Given the description of an element on the screen output the (x, y) to click on. 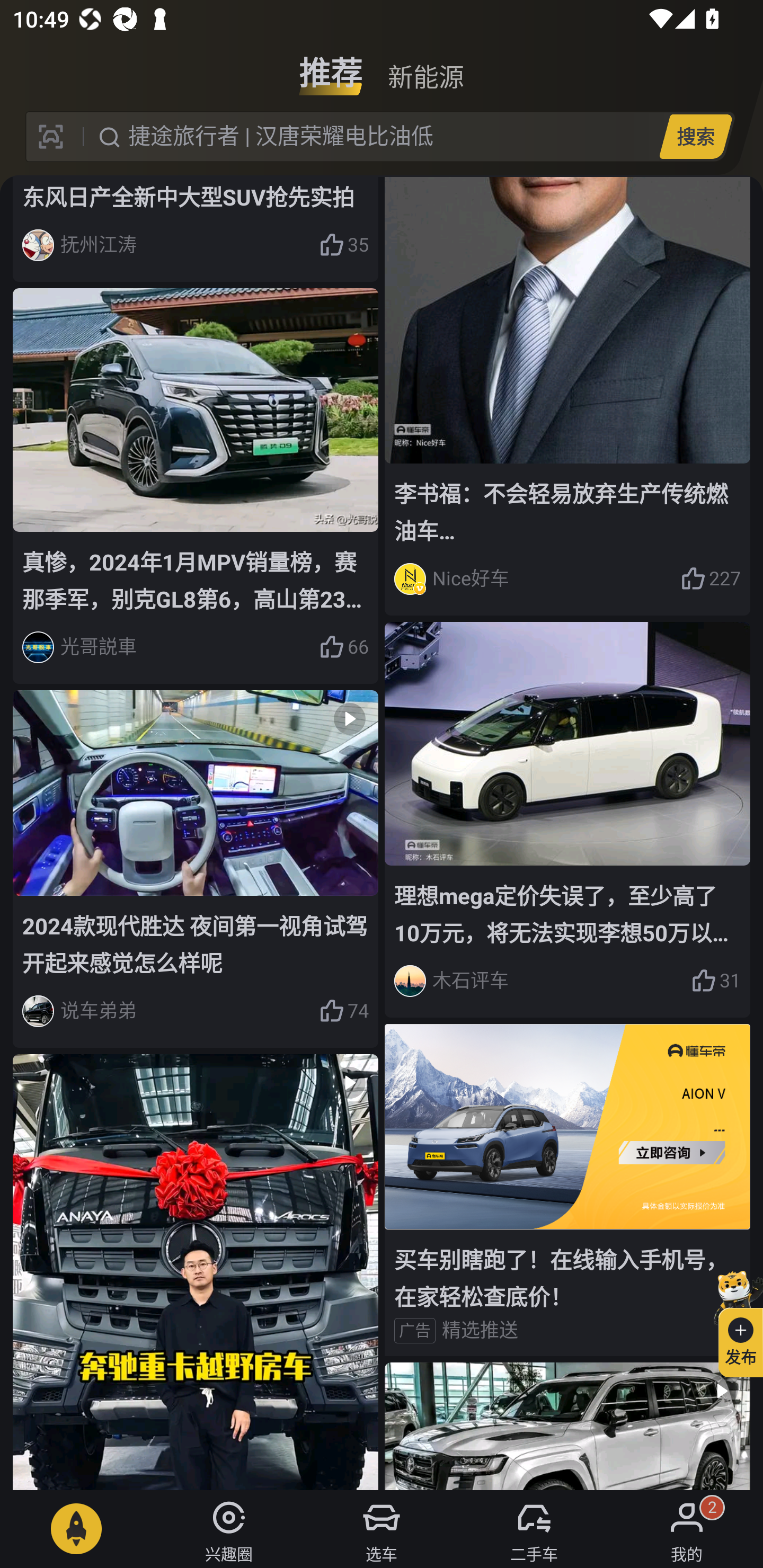
推荐 (330, 65)
新能源 (425, 65)
搜索 (695, 136)
东风日产探陆2.0T智尊版实车展示 东风日产全新中大型SUV抢先实拍 抚州江涛 35 (195, 229)
35 (343, 245)
真惨，2024年1月MPV销量榜，赛那季军，别克GL8第6，高山第23名。 光哥説車 66 (195, 485)
227 (710, 578)
66 (343, 647)
 2024款现代胜达 夜间第一视角试驾 开起来感觉怎么样呢 说车弟弟 74 (195, 868)
31 (715, 980)
74 (343, 1010)
买车别瞎跑了！在线输入手机号，在家轻松查底价！ 广告 精选推送 (567, 1189)
 (195, 1271)
发布 (732, 1321)
 (567, 1425)
 兴趣圈 (228, 1528)
 选车 (381, 1528)
 二手车 (533, 1528)
 我的 (686, 1528)
